Given the description of an element on the screen output the (x, y) to click on. 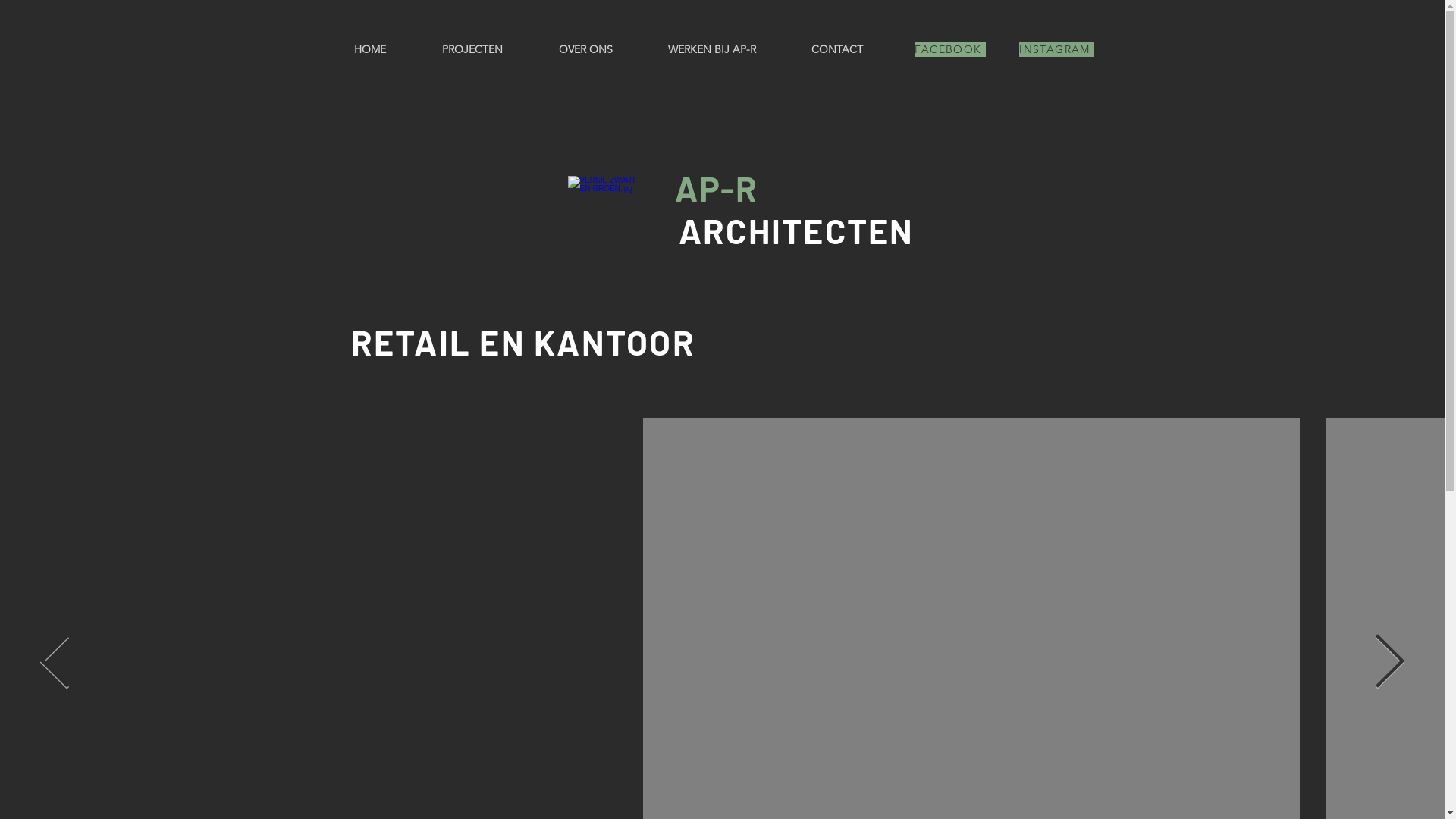
RETAIL EN KANTOOR Element type: text (522, 341)
INSTAGRAM Element type: text (1056, 48)
CONTACT Element type: text (837, 48)
FACEBOOK Element type: text (949, 48)
HOME Element type: text (370, 48)
WERKEN BIJ AP-R Element type: text (711, 48)
OVER ONS Element type: text (585, 48)
PROJECTEN Element type: text (472, 48)
AP-R Element type: text (716, 187)
